Given the description of an element on the screen output the (x, y) to click on. 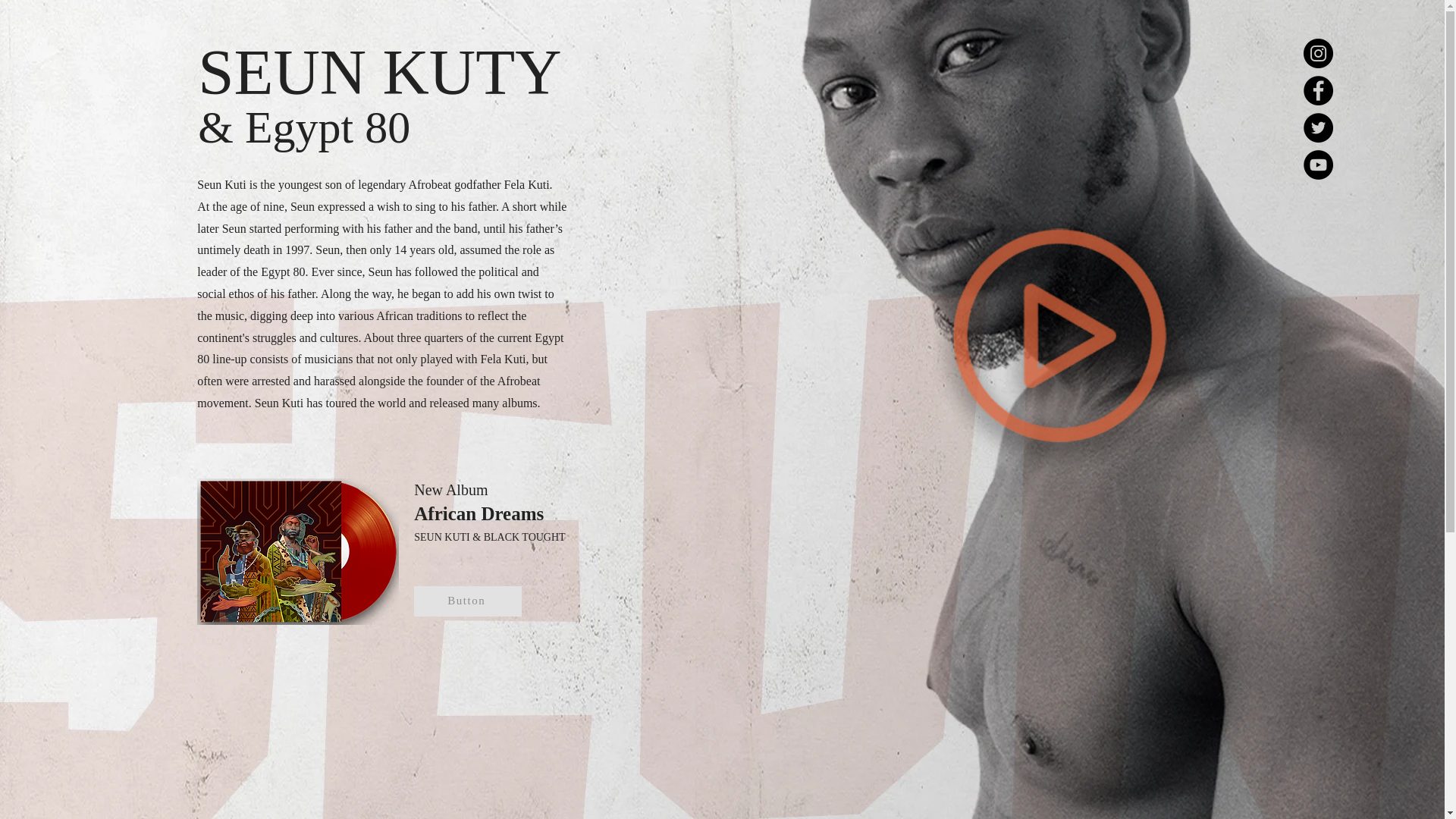
Button (467, 601)
